Given the description of an element on the screen output the (x, y) to click on. 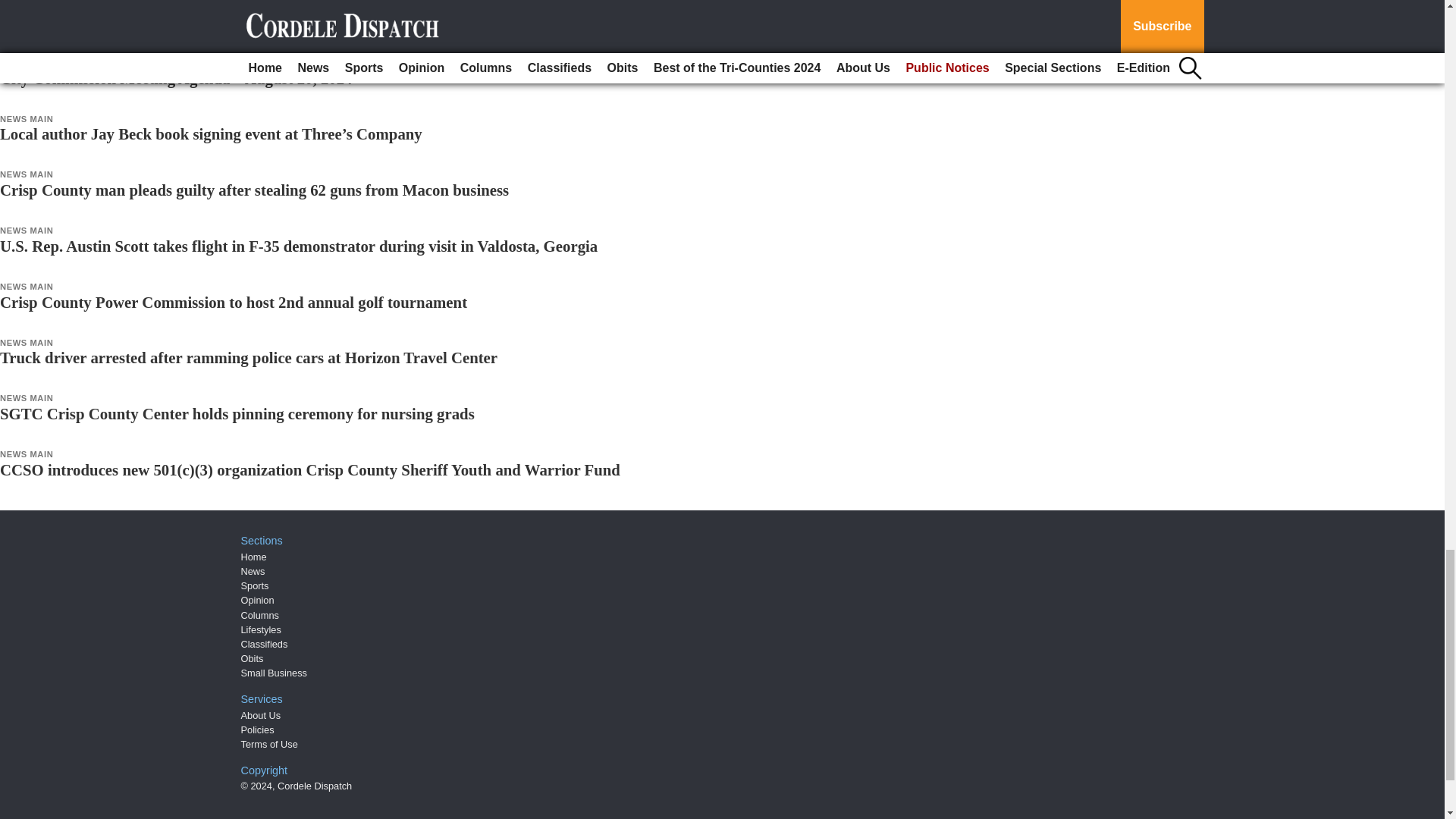
Cordele City Commission holds meeting on August 20, 2024 (200, 22)
Cordele City Commission holds meeting on August 20, 2024 (200, 22)
